Given the description of an element on the screen output the (x, y) to click on. 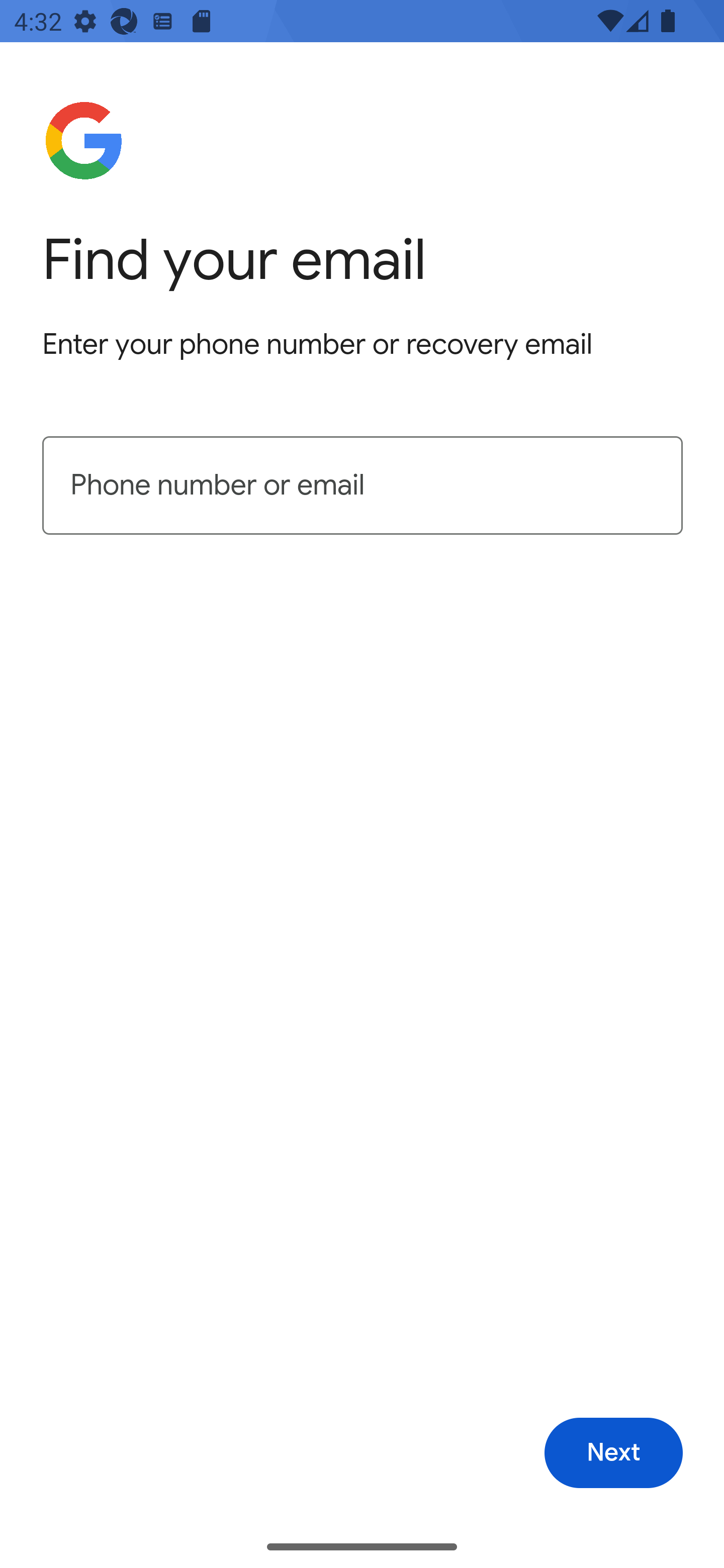
Next (613, 1453)
